Given the description of an element on the screen output the (x, y) to click on. 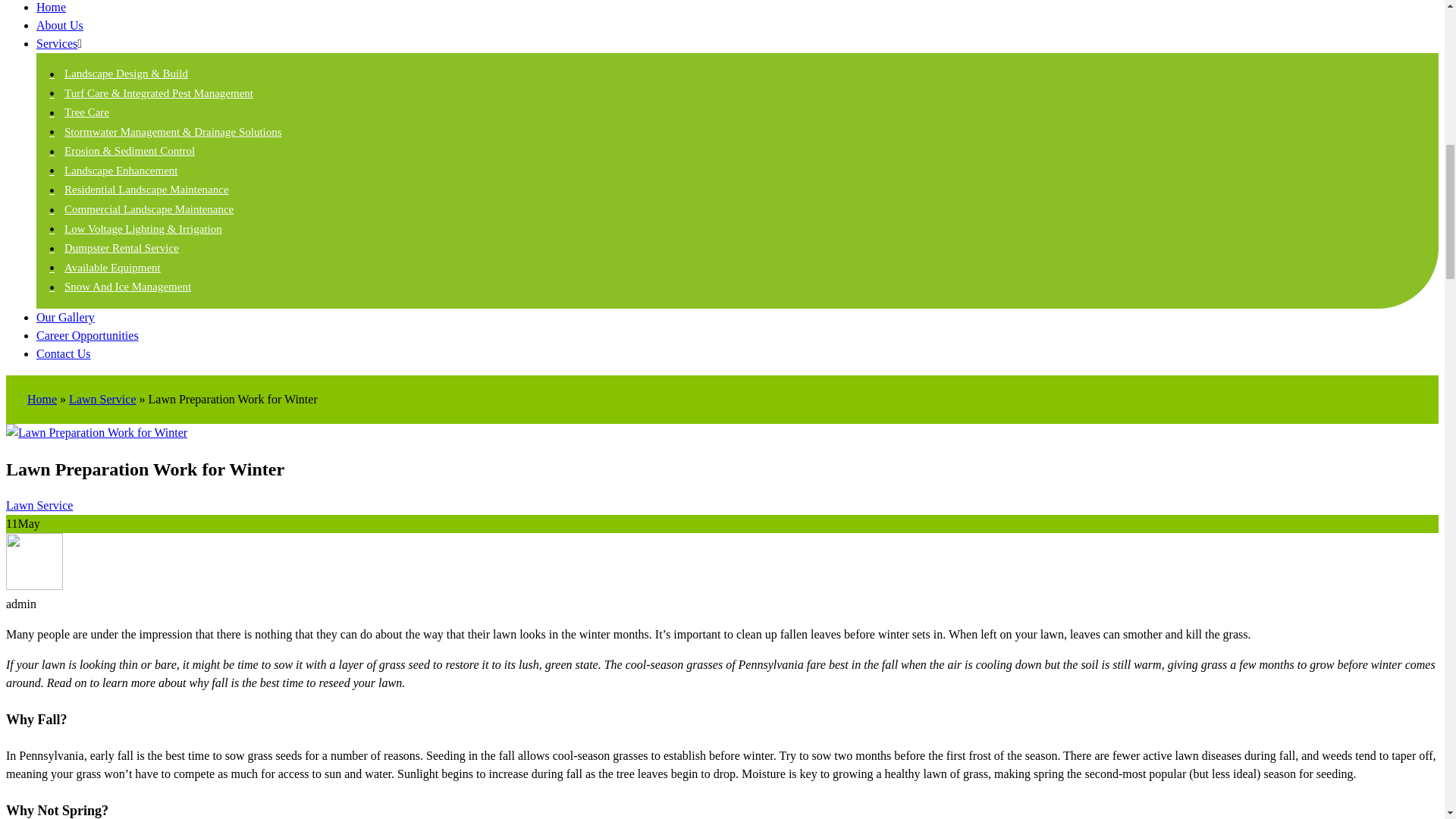
Contact Us (63, 353)
Commercial Landscape Maintenance (145, 209)
Tree Care (84, 111)
Available Equipment (109, 267)
Dumpster Rental Service (119, 247)
Dumpster Rental Service (119, 247)
Landscape Enhancement (118, 170)
Residential Landscape Maintenance (143, 189)
About Us (59, 24)
Landscape Enhancement (118, 170)
About Us (59, 24)
Tree Care (84, 111)
Our Gallery (65, 317)
Snow And Ice Management (124, 286)
Services (56, 42)
